Given the description of an element on the screen output the (x, y) to click on. 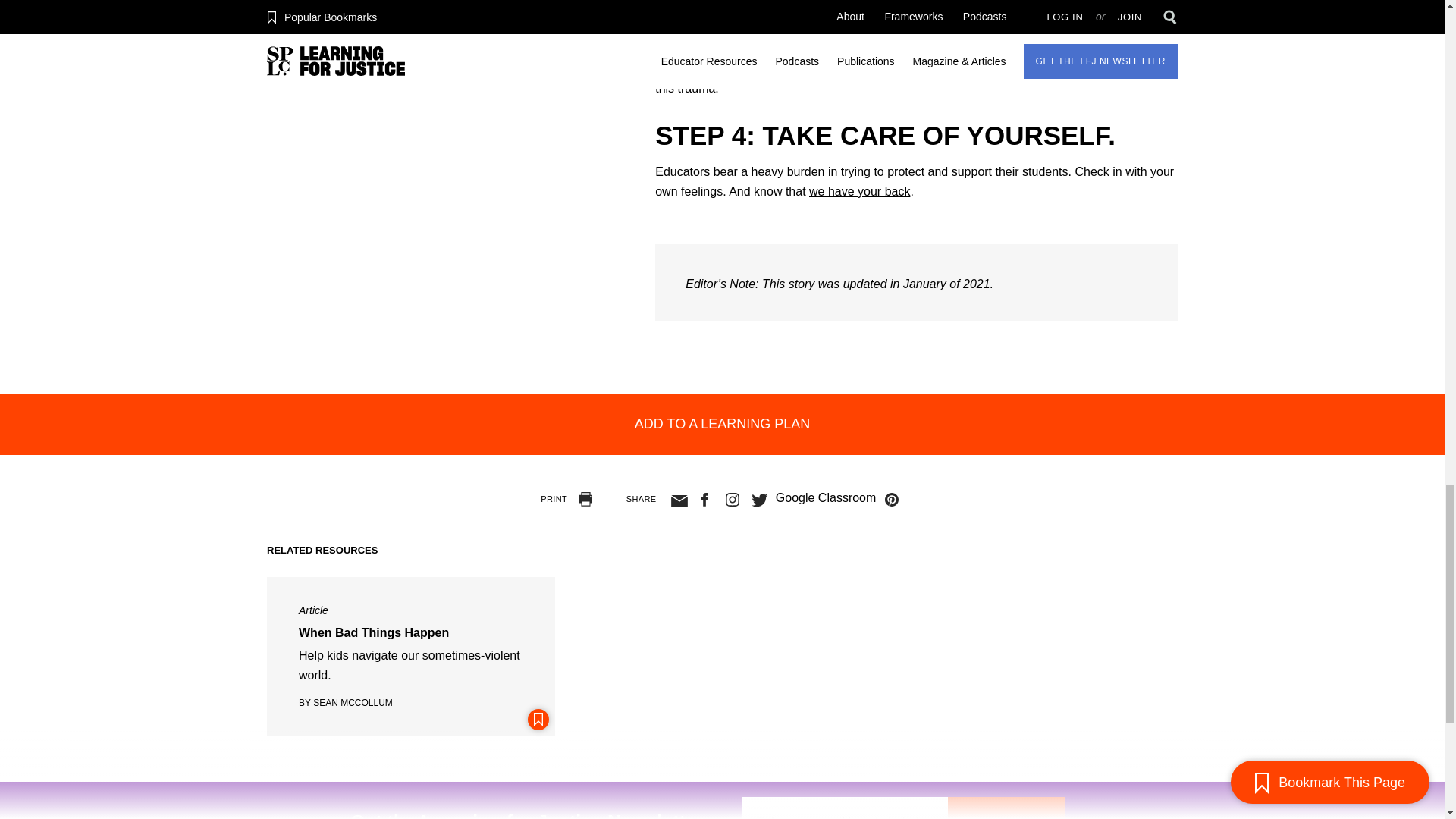
I'm In (1006, 807)
A Love Letter to Teachers After Yet Another School Shooting (859, 191)
